Given the description of an element on the screen output the (x, y) to click on. 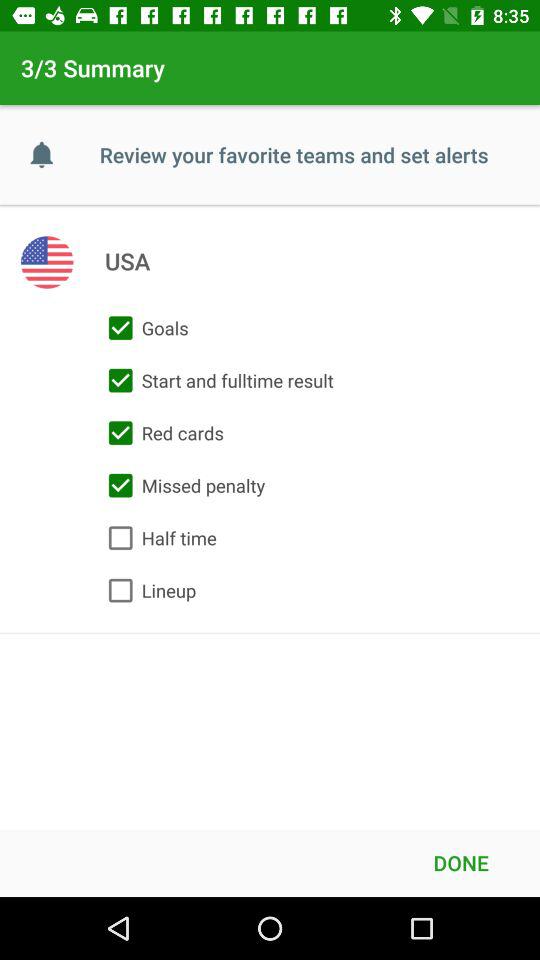
open the item below the usa item (143, 328)
